Given the description of an element on the screen output the (x, y) to click on. 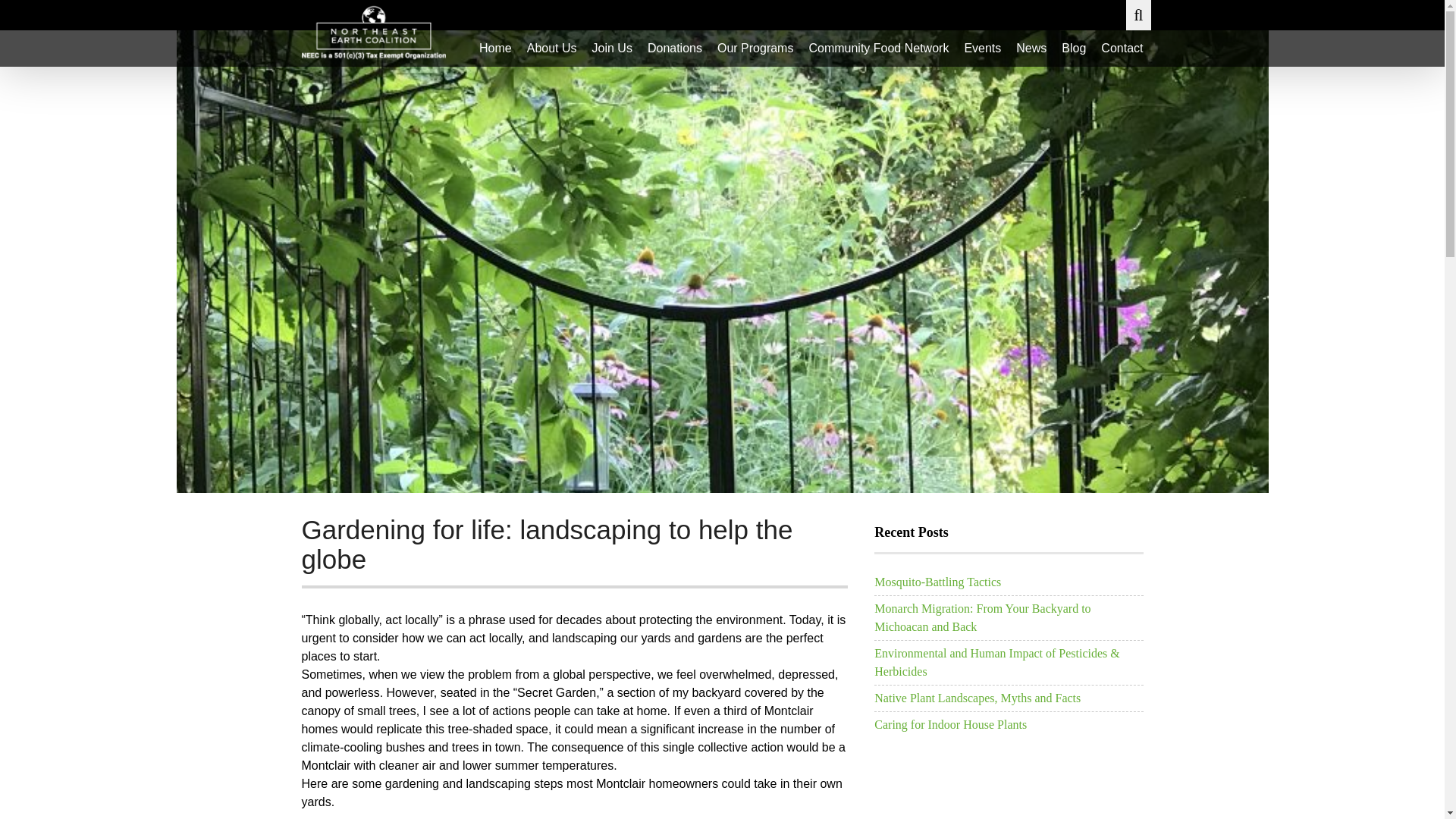
Join Us (612, 48)
News (1031, 48)
About Us (552, 48)
Contact (1121, 48)
The Northeast Earth Coalition (373, 32)
Donations (675, 48)
Home (495, 48)
Blog (1073, 48)
Our Programs (755, 48)
Community Food Network (878, 48)
